Given the description of an element on the screen output the (x, y) to click on. 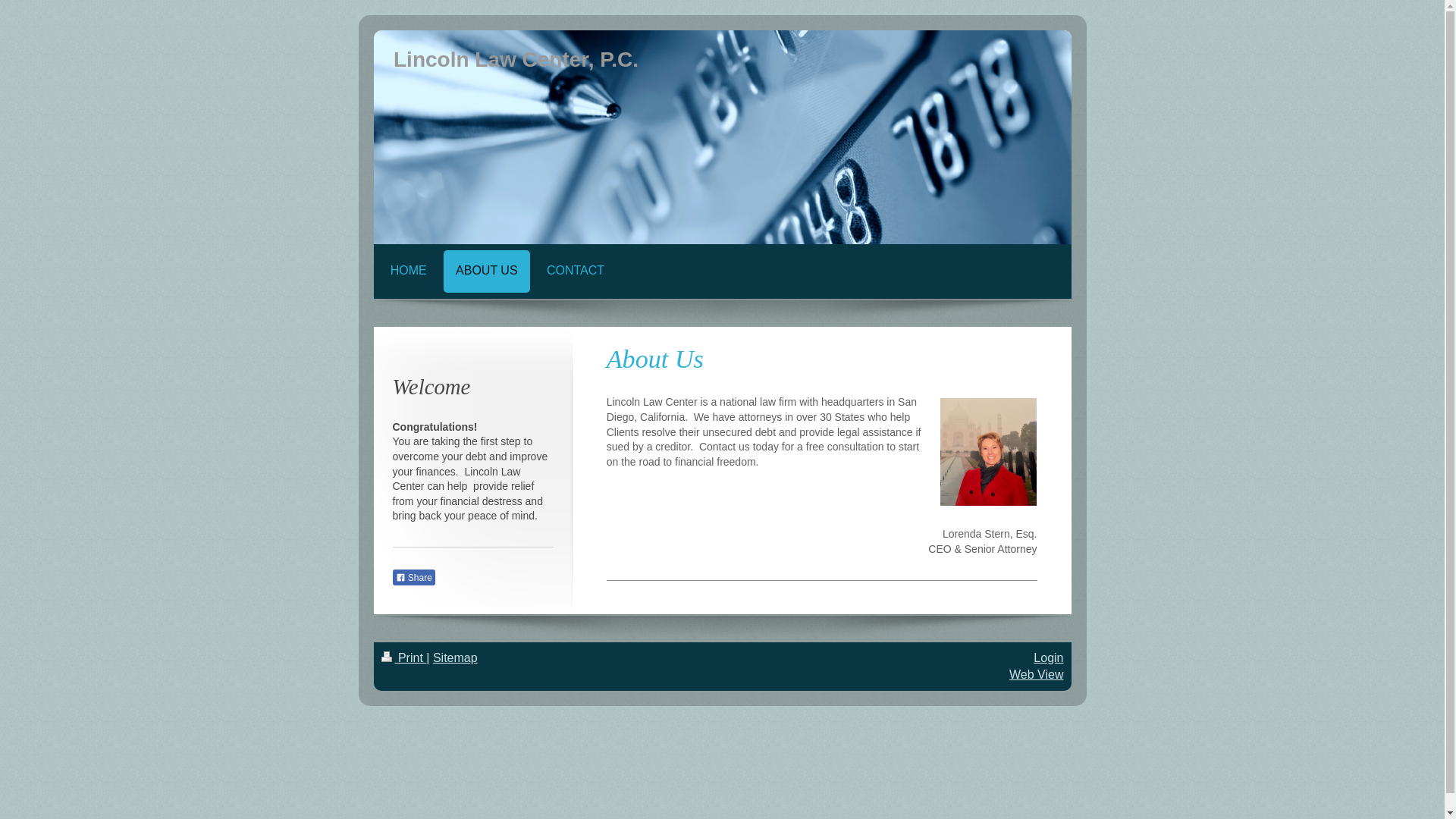
Login Element type: text (1048, 657)
Sitemap Element type: text (455, 657)
Web View Element type: text (1036, 674)
CONTACT Element type: text (575, 271)
Print Element type: text (403, 657)
HOME Element type: text (408, 271)
ABOUT US Element type: text (486, 271)
Share Element type: text (413, 577)
